Given the description of an element on the screen output the (x, y) to click on. 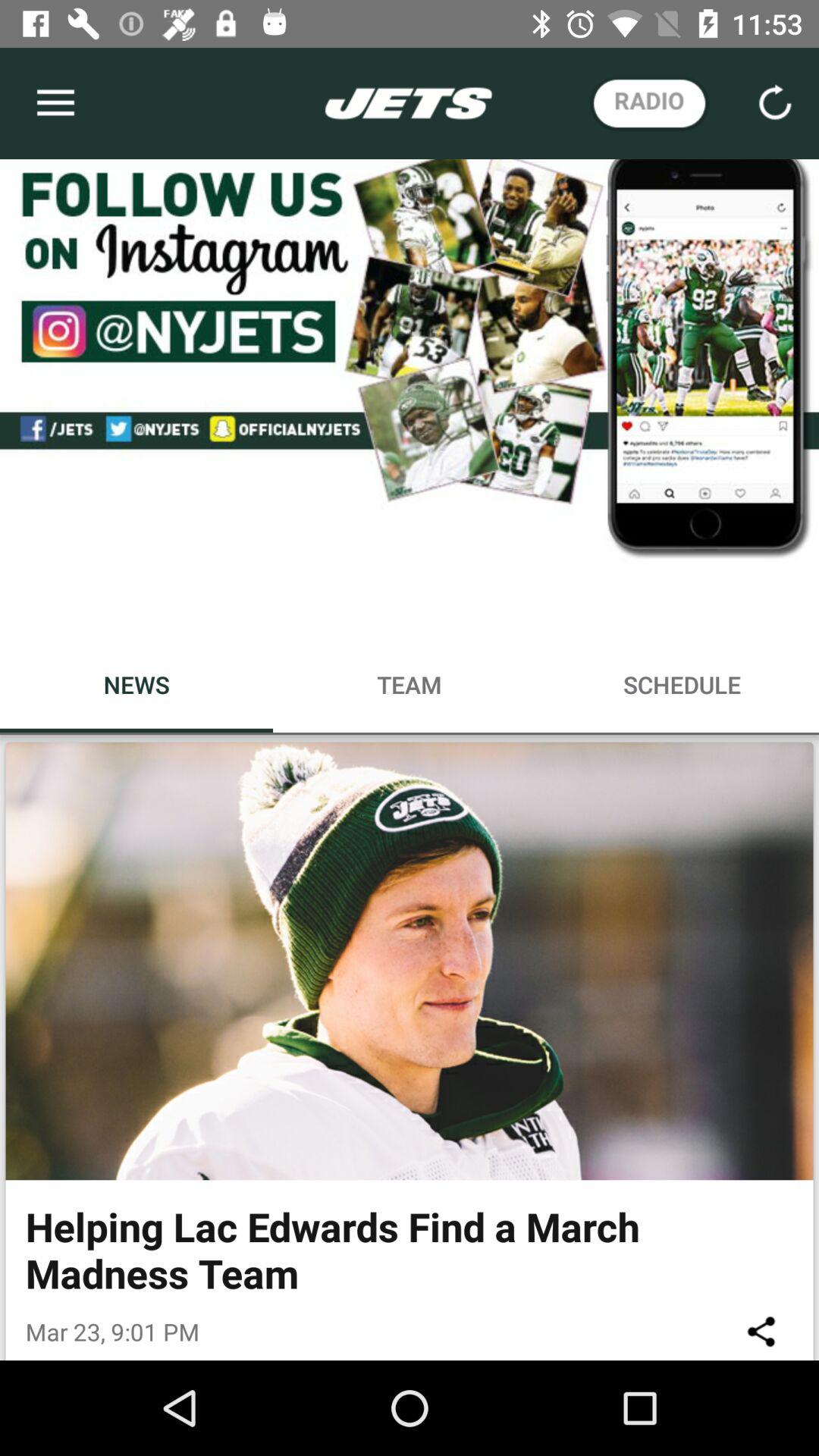
click the radio (649, 103)
click the refresh icon (775, 103)
select the refresh icon (775, 103)
select the text which is in white color on the top middle (408, 103)
click on the reload icon which is on the top right corner (774, 103)
